Given the description of an element on the screen output the (x, y) to click on. 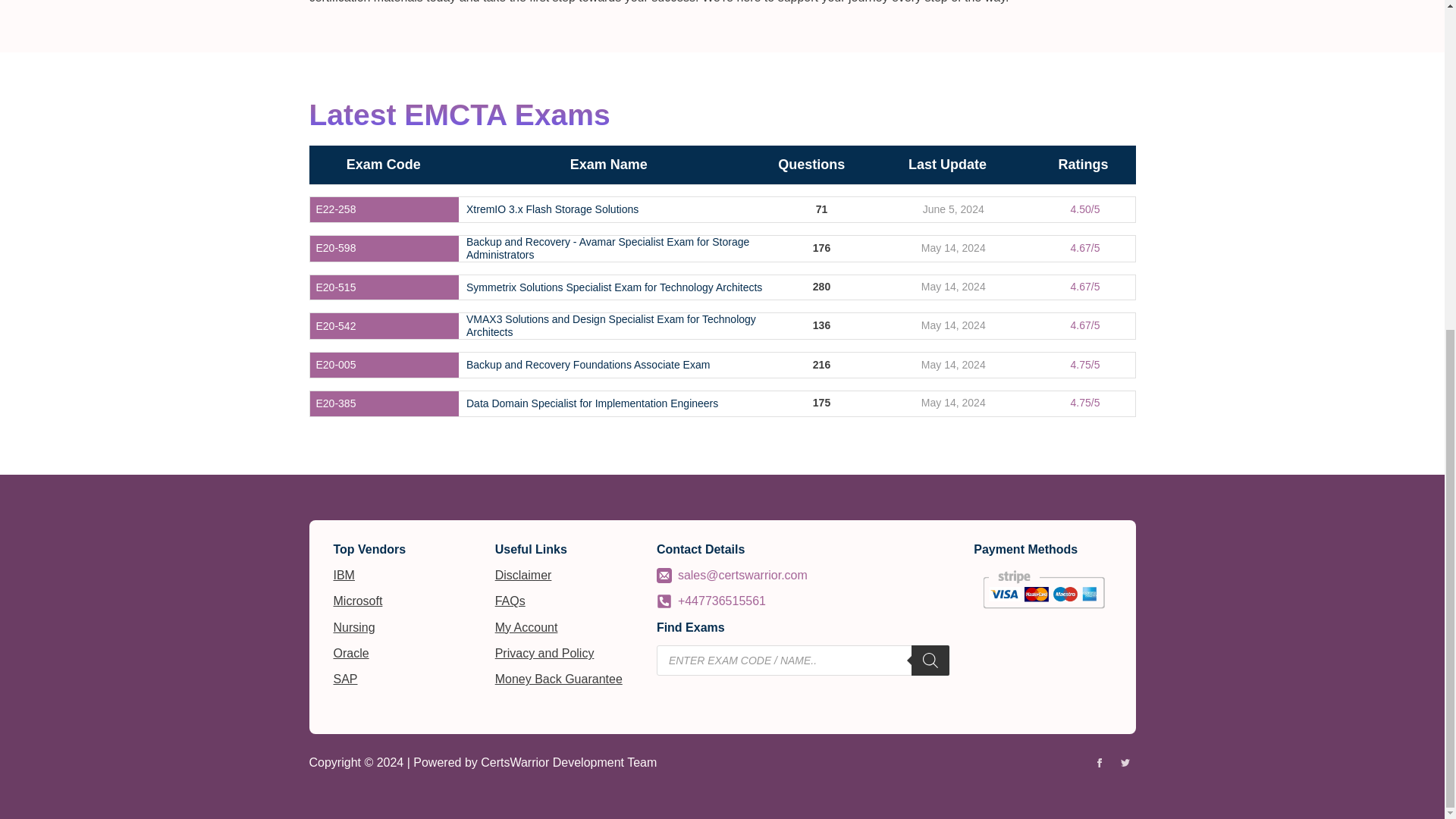
E20-542 (335, 326)
E20-598 (335, 247)
Exam Code (383, 165)
E22-258 (335, 209)
XtremIO 3.x Flash Storage Solutions (552, 209)
E20-385 (335, 403)
E20-005 (335, 364)
E20-515 (335, 287)
Backup and Recovery Foundations Associate Exam (587, 364)
Data Domain Specialist for Implementation Engineers (591, 403)
